Given the description of an element on the screen output the (x, y) to click on. 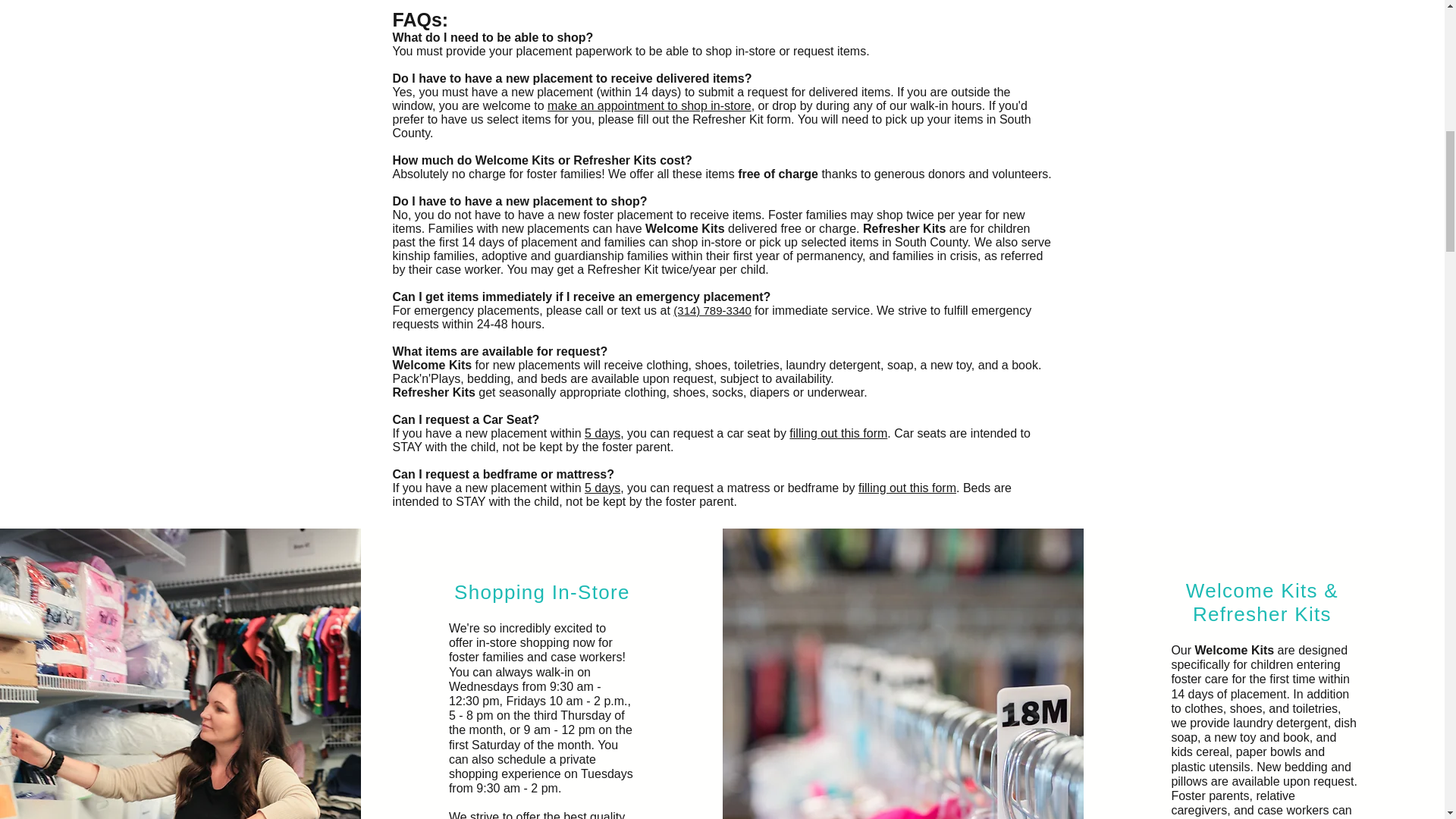
filling out this form (837, 432)
make an appointment to shop in-store (649, 105)
filling out this form (907, 487)
